Given the description of an element on the screen output the (x, y) to click on. 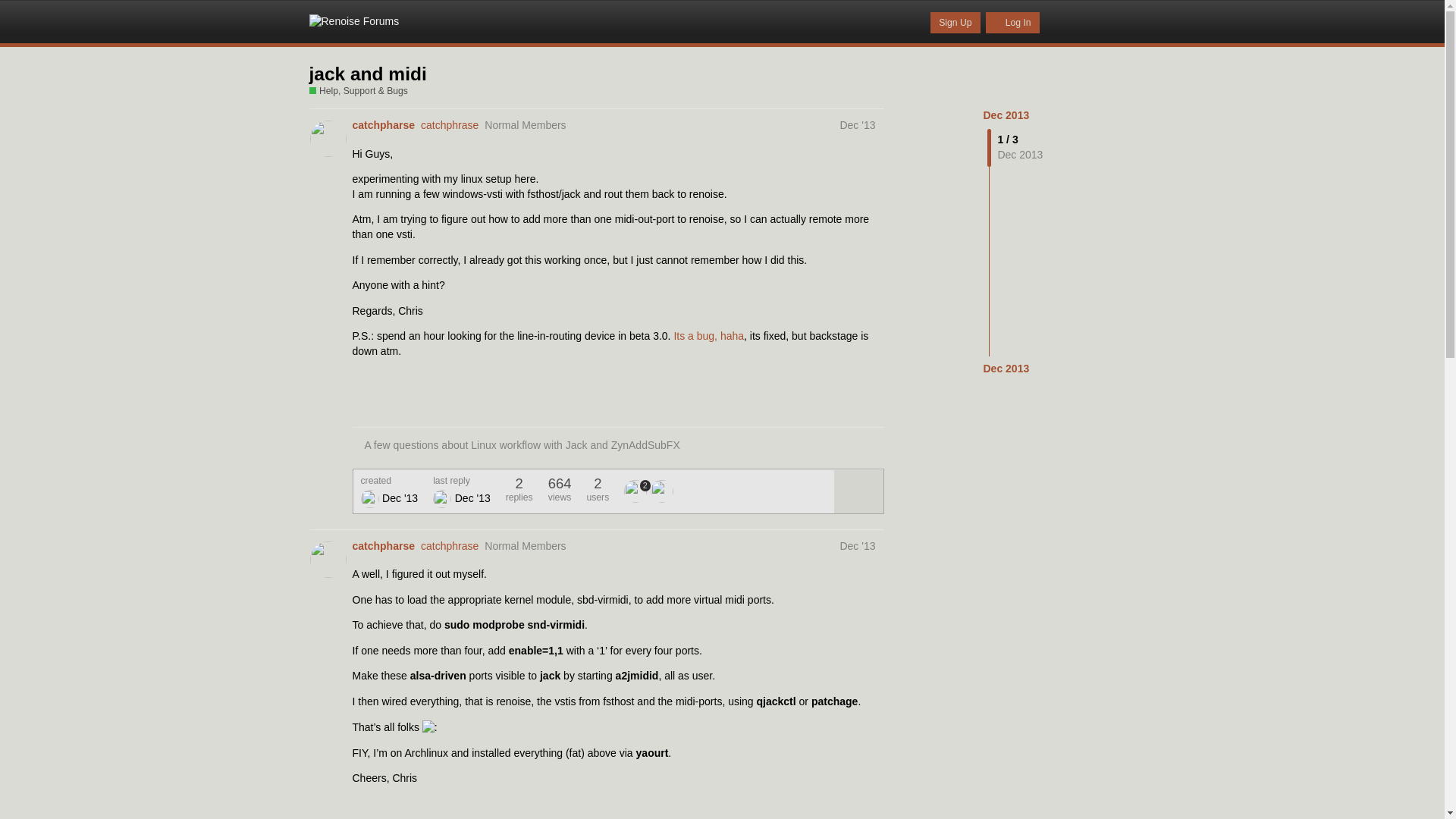
Dec 2013 (1005, 368)
catchphrase (449, 545)
copy a link to this post to clipboard (869, 399)
menu (1120, 21)
1 Reply (376, 816)
Back to www.renoise.com (1060, 21)
Dec 2013 (1005, 114)
catchphrase (637, 490)
Its a bug, haha (708, 336)
Dec 31, 2013 5:37 am (1005, 368)
